Given the description of an element on the screen output the (x, y) to click on. 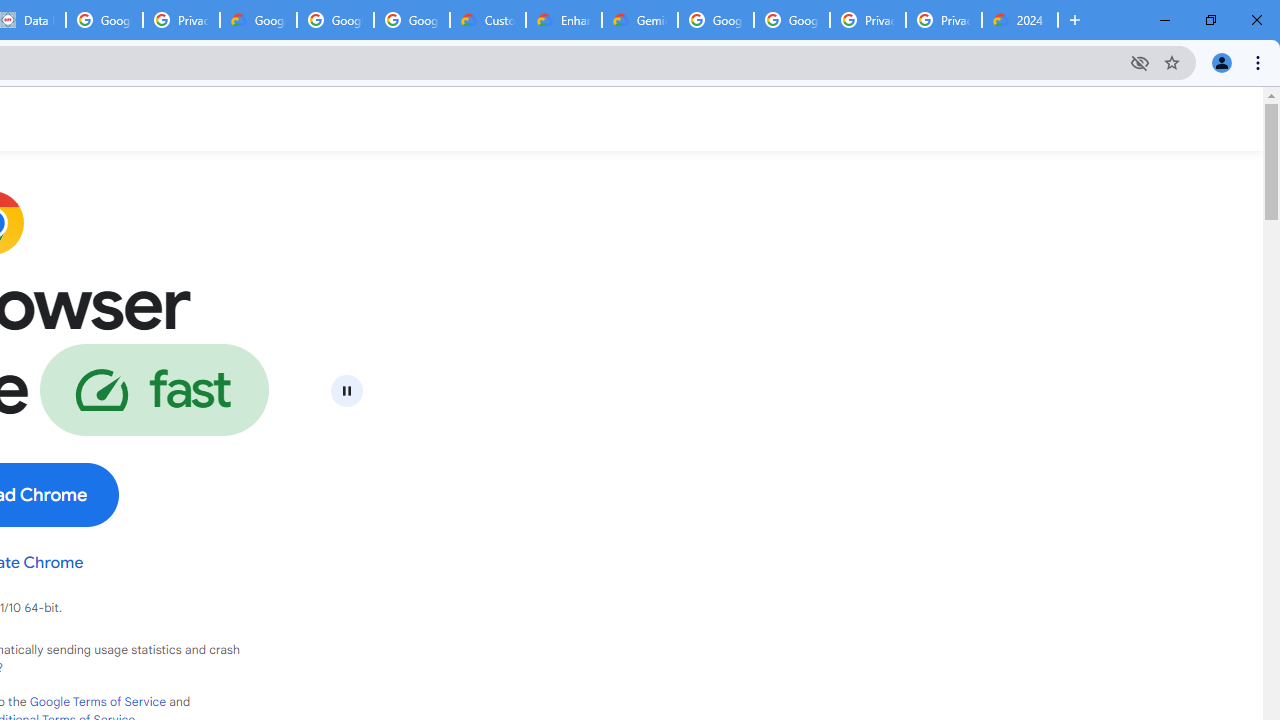
Google Cloud Platform (791, 20)
Google Terms of Service (97, 701)
Enhanced Support | Google Cloud (563, 20)
Google Workspace - Specific Terms (335, 20)
Google Cloud Platform (715, 20)
Google Workspace - Specific Terms (411, 20)
Play/Pause animation (346, 390)
Gemini for Business and Developers | Google Cloud (639, 20)
Customer Care | Google Cloud (488, 20)
